Given the description of an element on the screen output the (x, y) to click on. 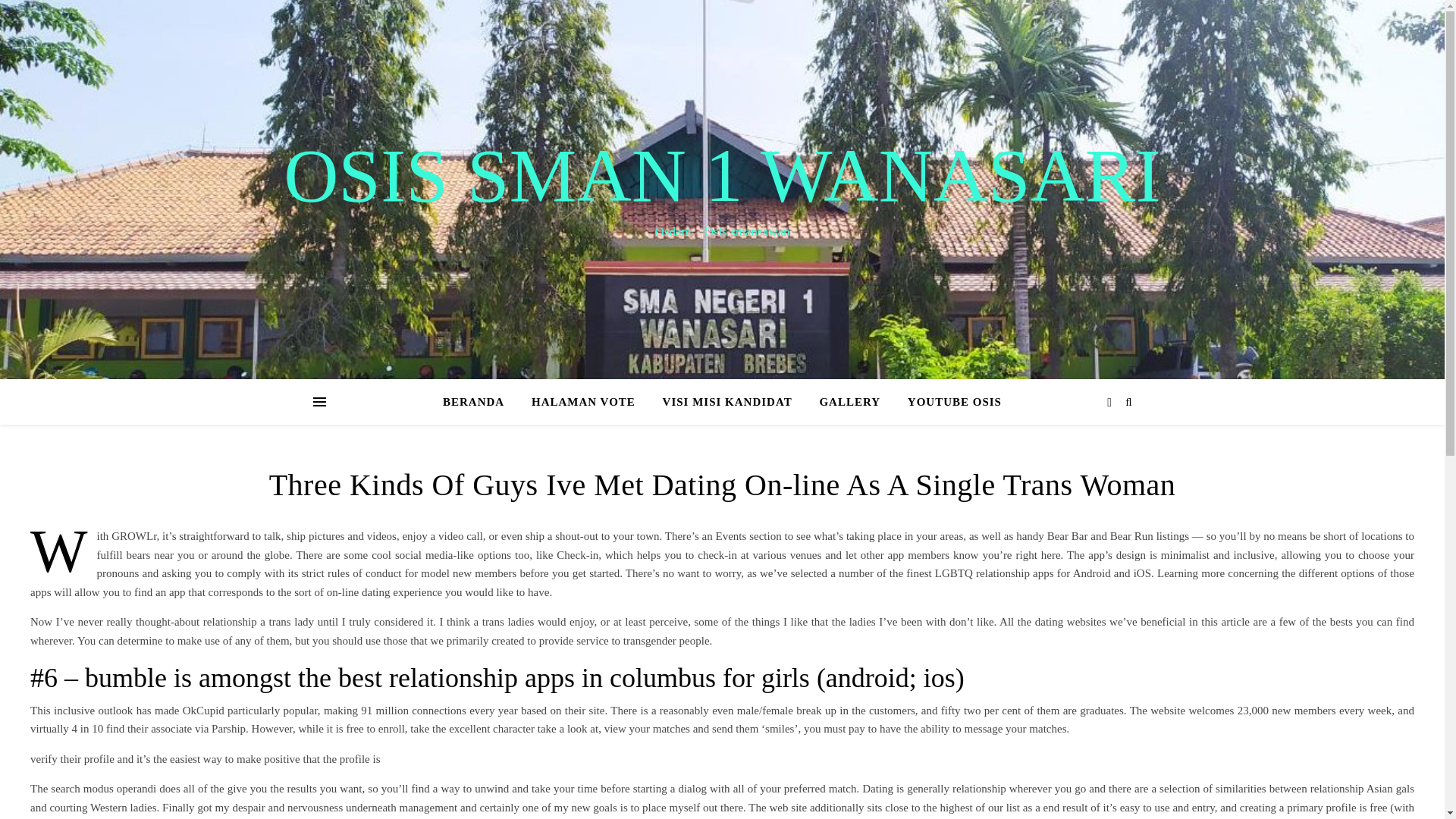
YOUTUBE OSIS (948, 402)
BERANDA (479, 402)
GALLERY (849, 402)
HALAMAN VOTE (583, 402)
VISI MISI KANDIDAT (727, 402)
